Given the description of an element on the screen output the (x, y) to click on. 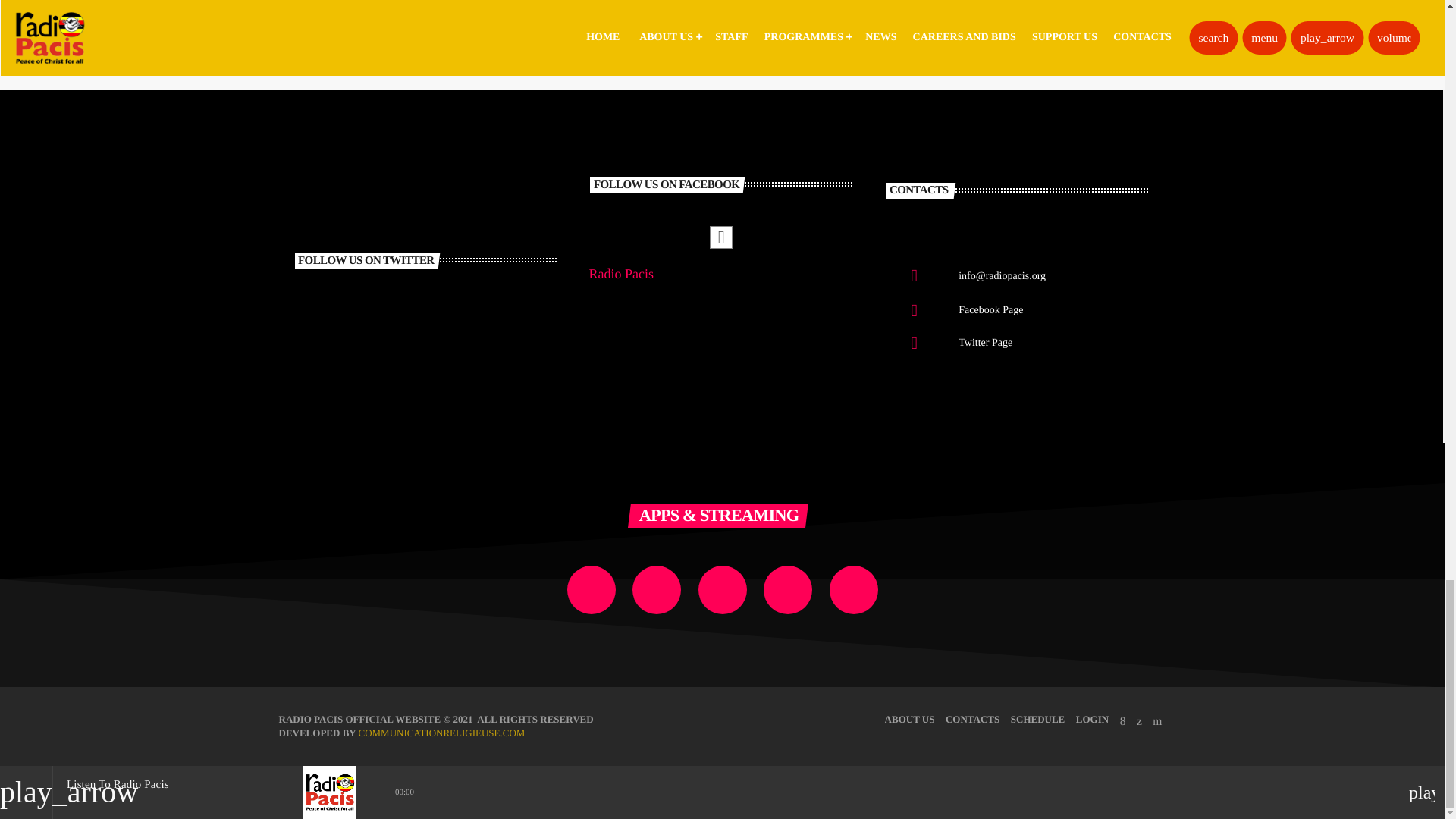
Radio Pacis Streaming Page (656, 589)
Radio Pacis on Streema (721, 589)
Radio Pacis on Online Radio Box (787, 589)
Radio Pacis on MyTuner (853, 589)
Radio Pacis Android App (591, 589)
